Given the description of an element on the screen output the (x, y) to click on. 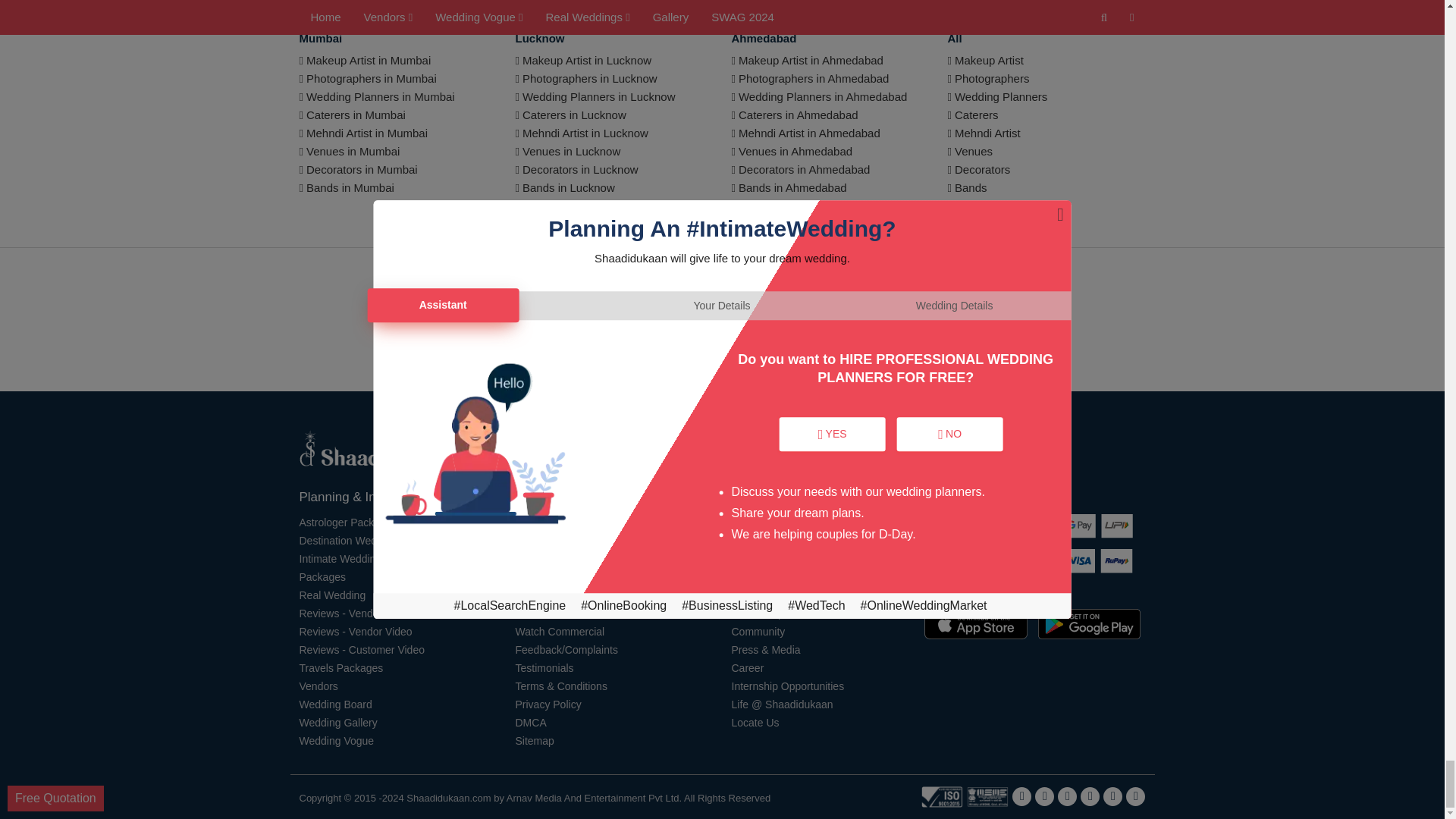
Vendor Reviews (339, 612)
Intimate Wedding (339, 558)
Packages (321, 576)
Destination Wedding Packages (371, 539)
Astrologer (347, 521)
Customer Reviews (360, 648)
Travels (340, 666)
Real Wedding (331, 594)
Vendor Reviews (355, 630)
